Given the description of an element on the screen output the (x, y) to click on. 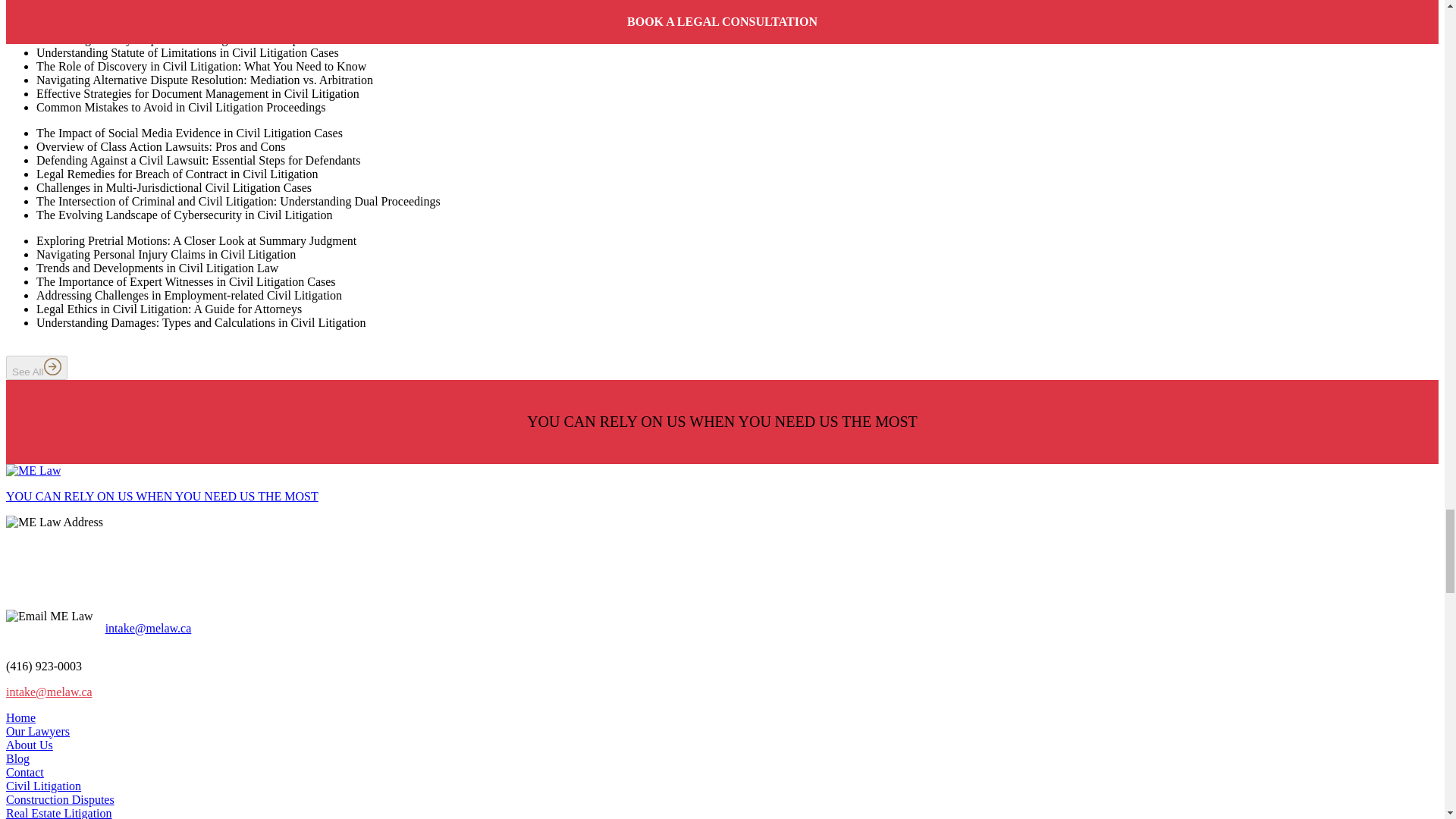
Home (19, 717)
See All (35, 367)
